Given the description of an element on the screen output the (x, y) to click on. 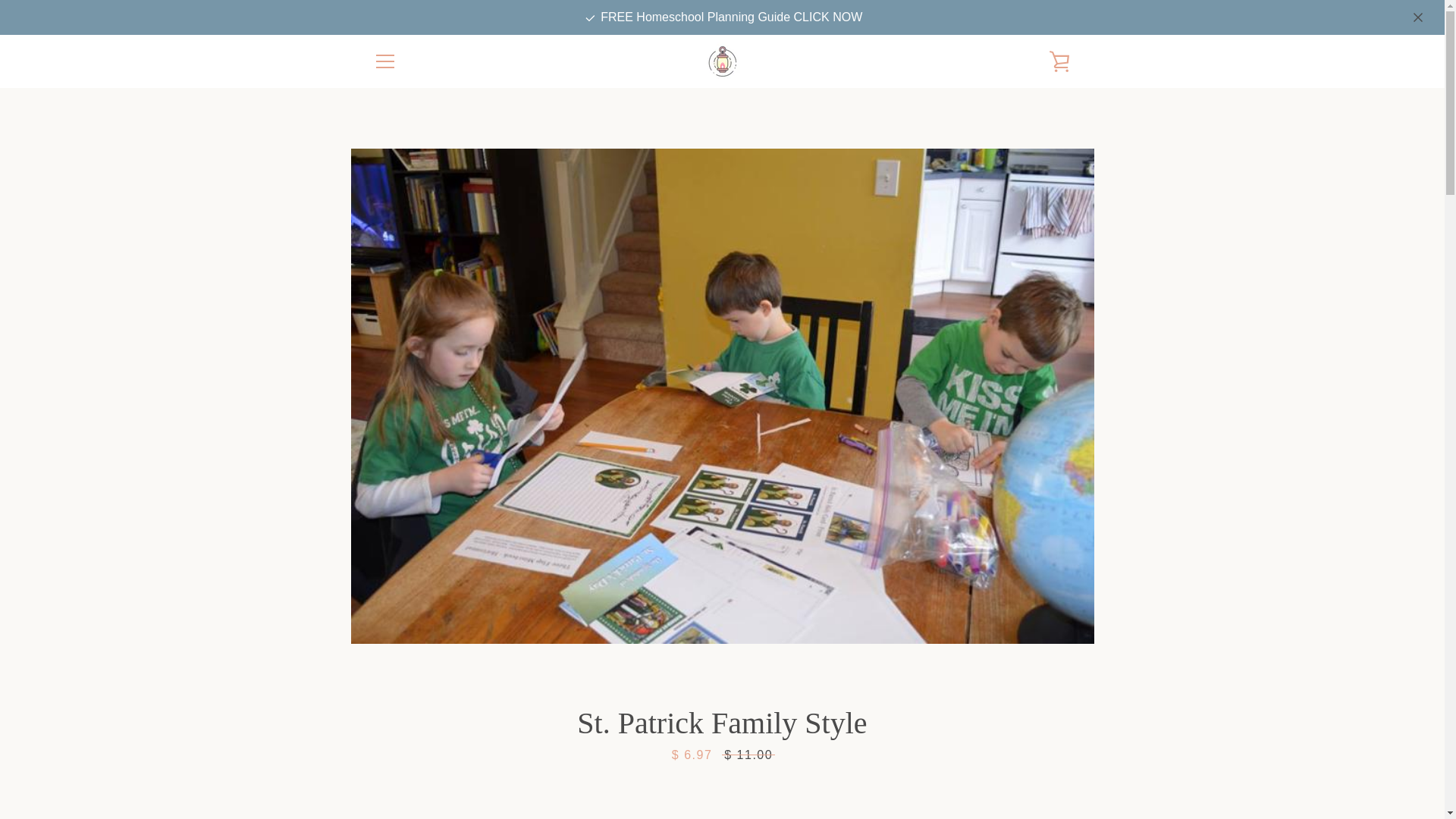
VIEW CART (1059, 61)
EXPAND NAVIGATION (384, 61)
